Given the description of an element on the screen output the (x, y) to click on. 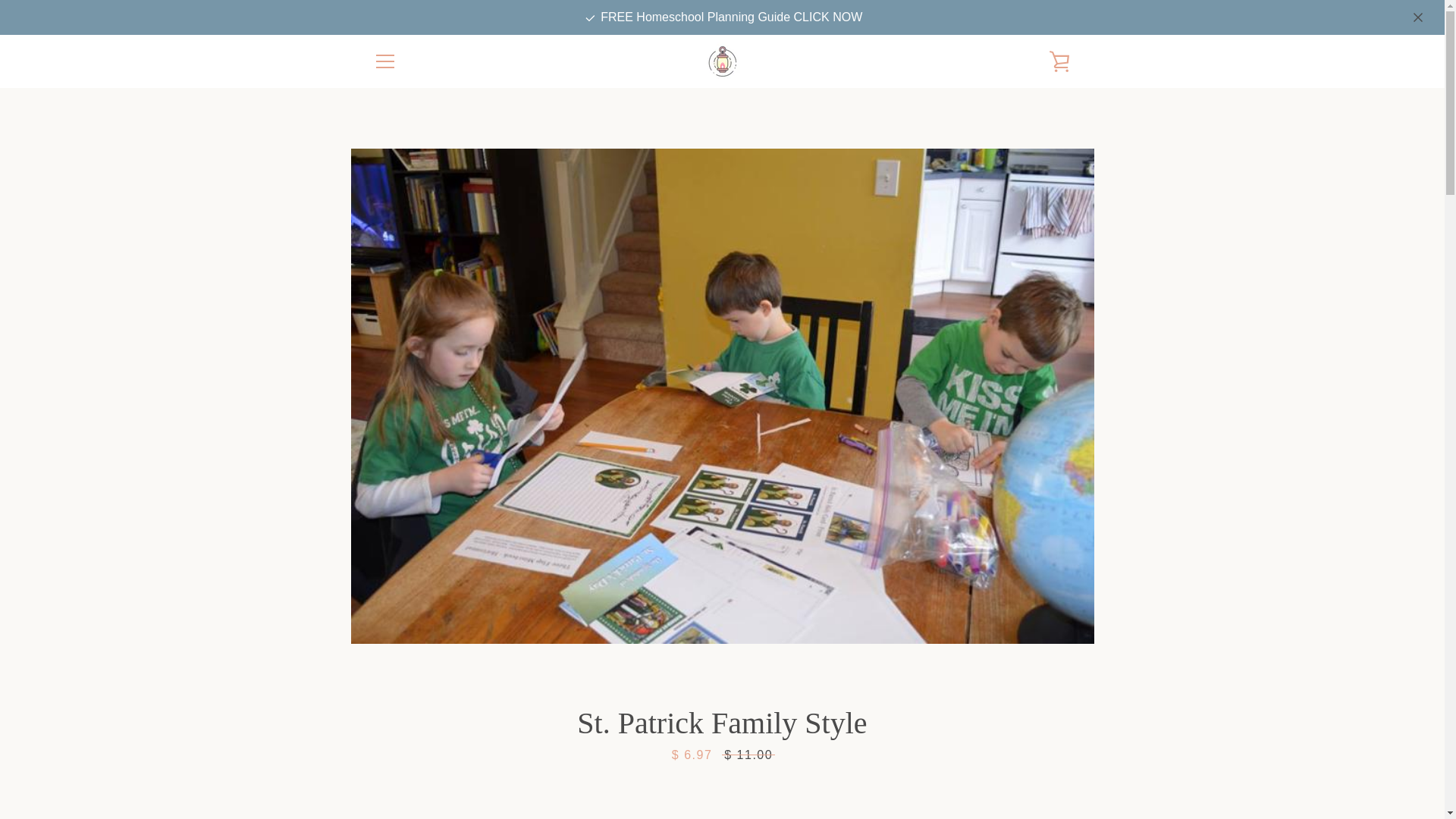
VIEW CART (1059, 61)
EXPAND NAVIGATION (384, 61)
